Given the description of an element on the screen output the (x, y) to click on. 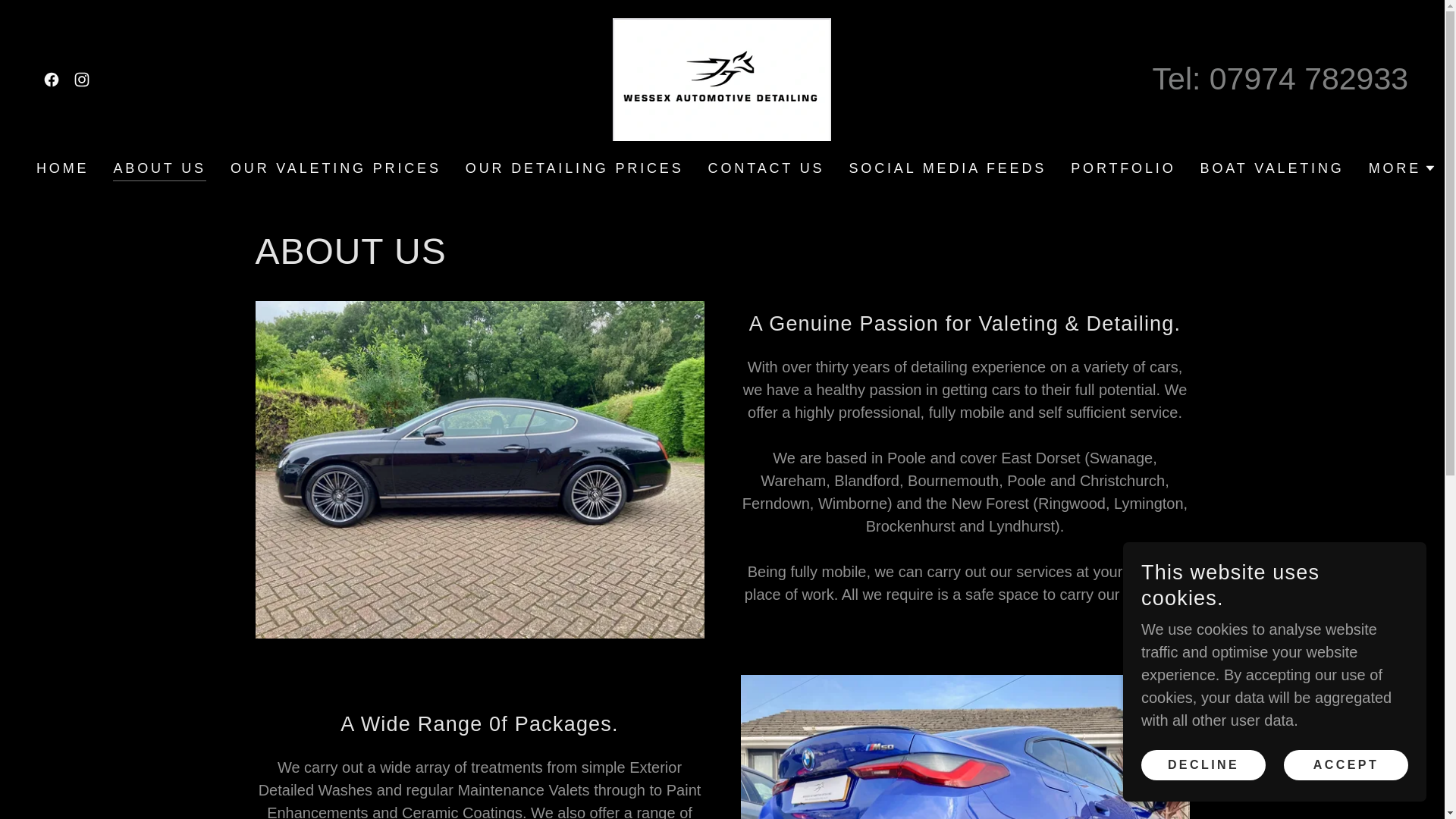
OUR DETAILING PRICES (574, 167)
07974 782933 (1308, 78)
OUR VALETING PRICES (335, 167)
MORE (1401, 167)
ABOUT US (159, 169)
HOME (62, 167)
Wessex Automotive Detailing Ltd (721, 77)
SOCIAL MEDIA FEEDS (947, 167)
BOAT VALETING (1272, 167)
CONTACT US (766, 167)
PORTFOLIO (1122, 167)
